Given the description of an element on the screen output the (x, y) to click on. 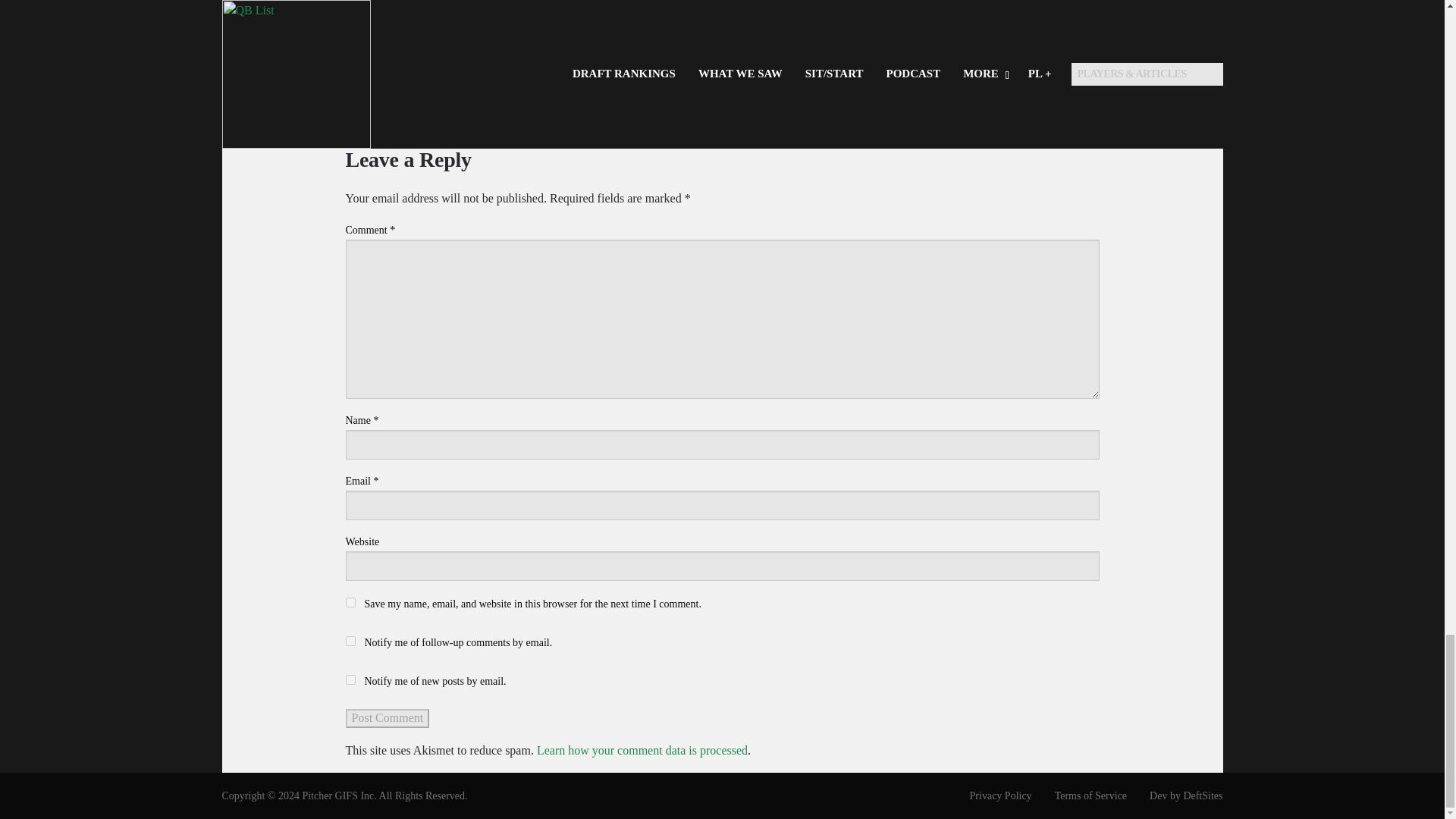
Privacy Policy (989, 795)
Post Comment (387, 718)
yes (350, 602)
subscribe (350, 641)
Post Comment (387, 718)
Learn how your comment data is processed (642, 749)
subscribe (350, 679)
Terms of Service (1079, 795)
